Given the description of an element on the screen output the (x, y) to click on. 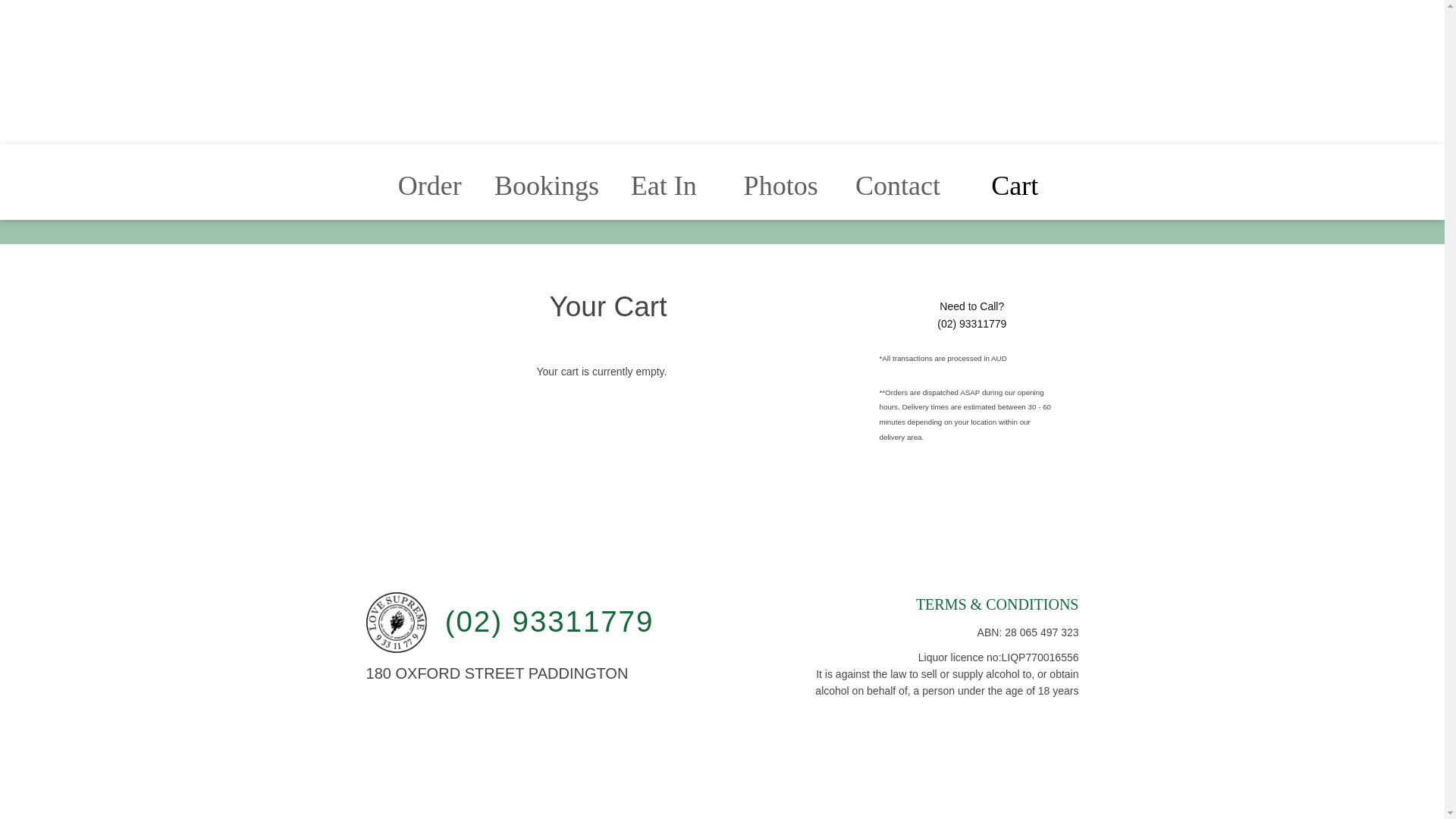
TERMS & CONDITIONS Element type: text (997, 604)
Photos Element type: text (780, 109)
Contact Element type: text (897, 109)
Need to Call?
(02) 93311779 Element type: text (971, 315)
Eat In Element type: text (663, 109)
Bookings Element type: text (546, 109)
(02) 93311779 Element type: text (541, 621)
Cart Element type: text (1014, 109)
Order Element type: text (429, 109)
